Given the description of an element on the screen output the (x, y) to click on. 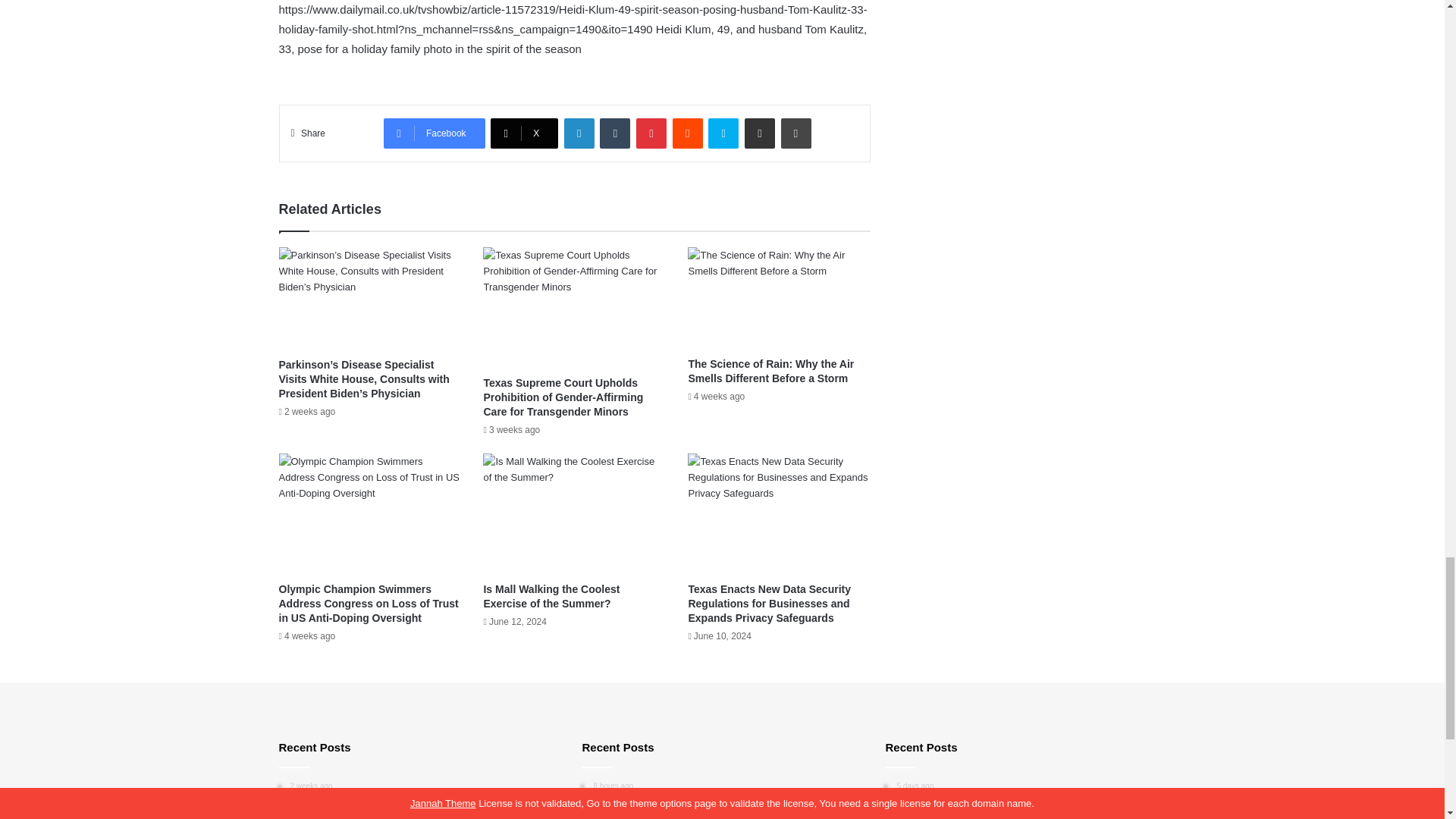
Facebook (434, 132)
Skype (722, 132)
Print (795, 132)
Tumblr (614, 132)
Tumblr (614, 132)
Skype (722, 132)
Reddit (687, 132)
Facebook (434, 132)
X (523, 132)
Share via Email (759, 132)
Reddit (687, 132)
Pinterest (651, 132)
X (523, 132)
Pinterest (651, 132)
LinkedIn (579, 132)
